Given the description of an element on the screen output the (x, y) to click on. 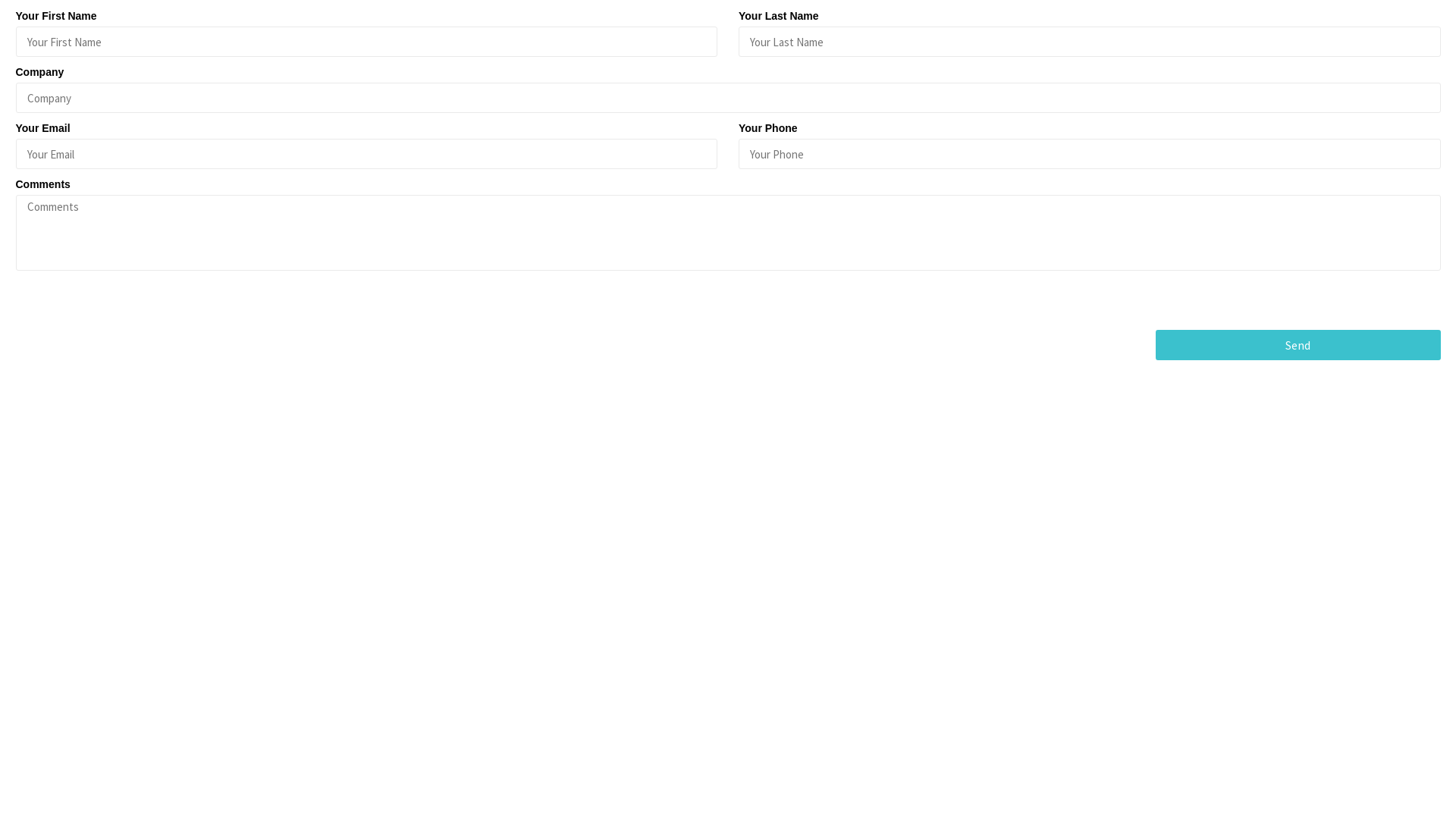
Send Element type: text (1297, 344)
